Given the description of an element on the screen output the (x, y) to click on. 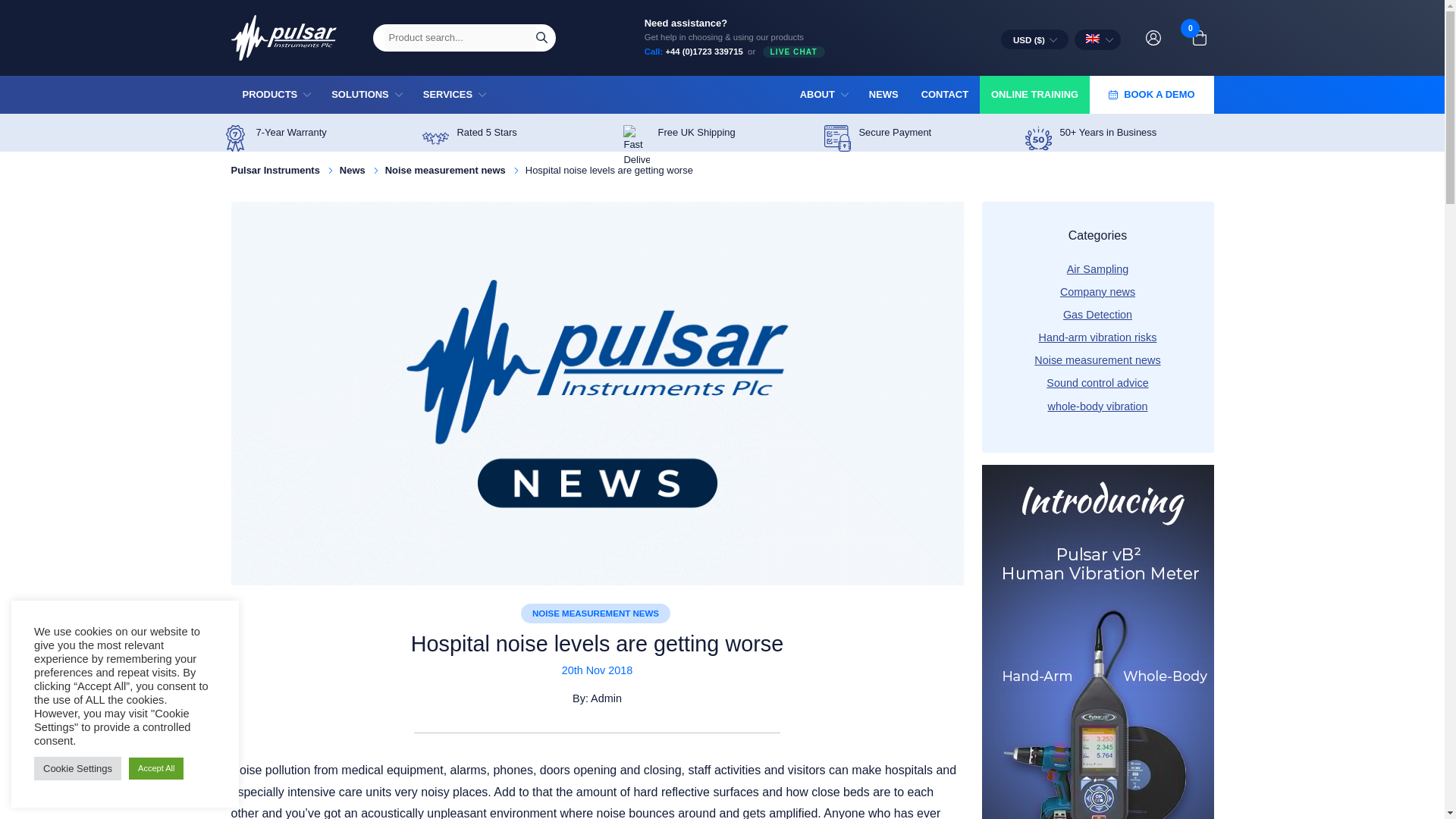
0 (1199, 38)
Go to the Noise measurement news News Category archives. (445, 170)
Go to News. (352, 170)
PRODUCTS (275, 94)
Go to Pulsar Instruments. (274, 170)
LIVE CHAT (793, 51)
SOLUTIONS (366, 94)
